Given the description of an element on the screen output the (x, y) to click on. 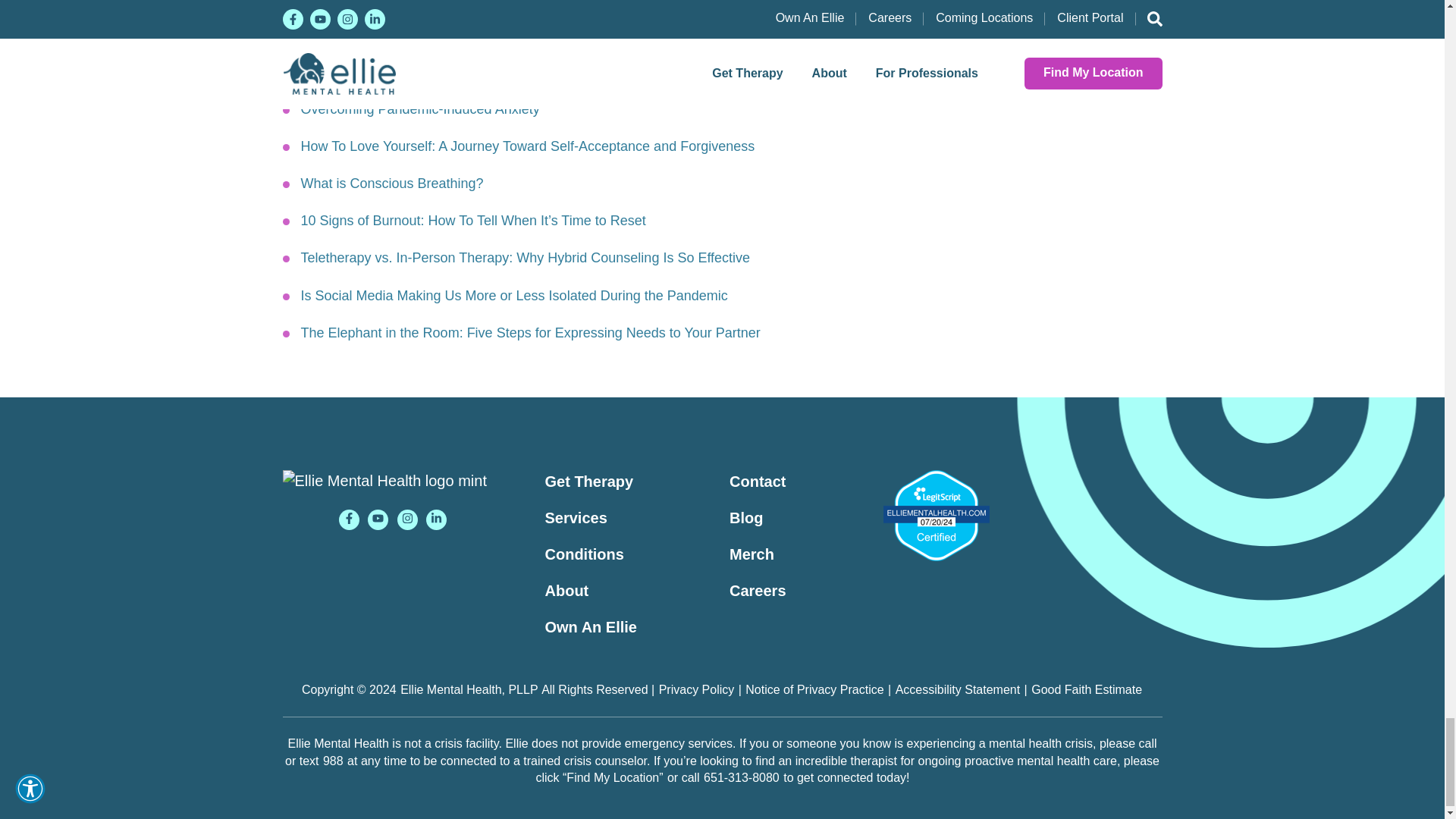
Verify LegitScript Approval (935, 515)
